Given the description of an element on the screen output the (x, y) to click on. 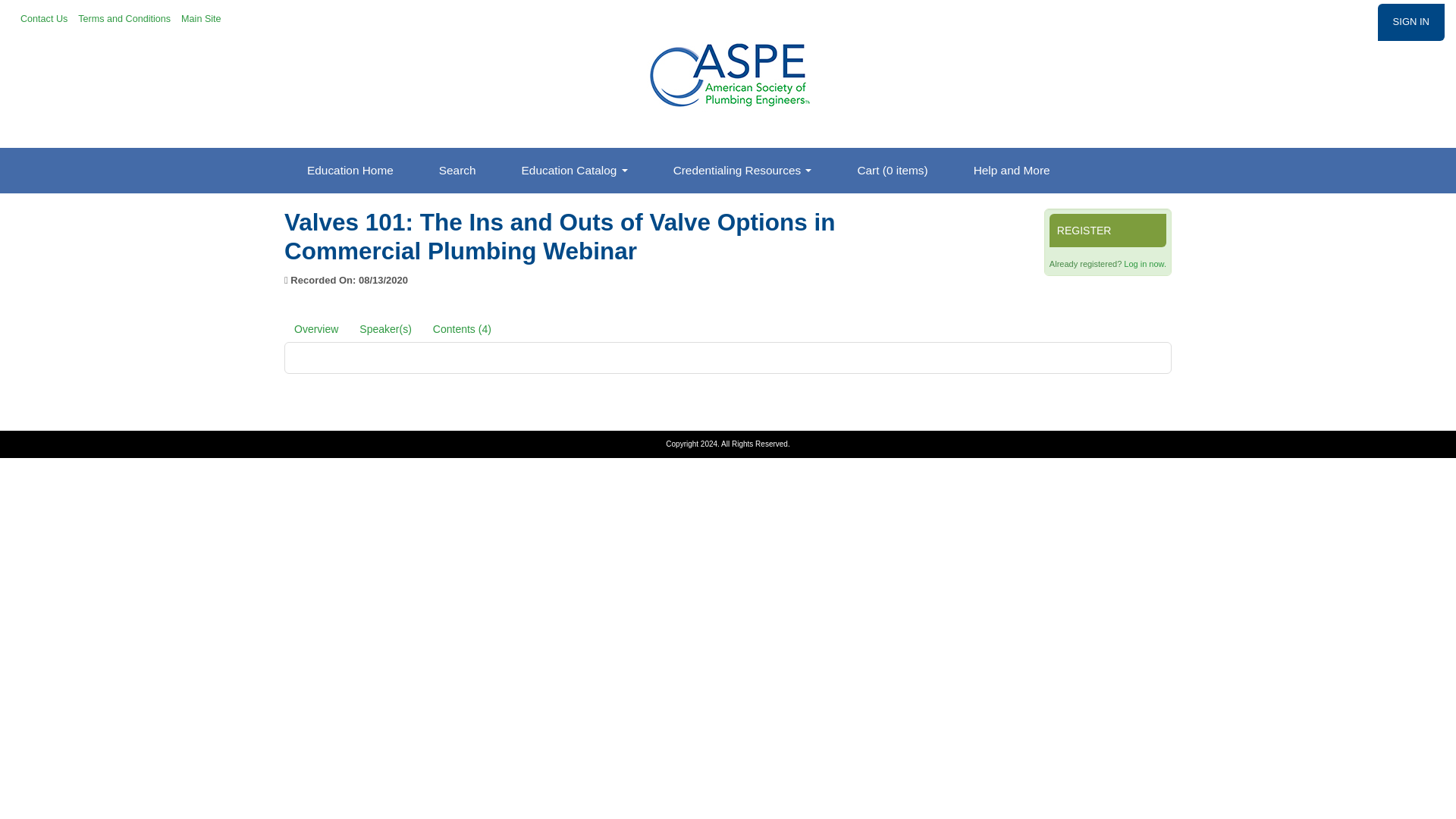
Search (457, 170)
SIGN IN (1410, 22)
Log in now. (1145, 263)
Education Catalog (574, 170)
Overview (315, 328)
REGISTER (1107, 230)
Help and More (1011, 170)
Credentialing Resources (742, 170)
Contact Us (44, 18)
Main Site (202, 18)
Education Home (349, 170)
Terms and Conditions (125, 18)
